Given the description of an element on the screen output the (x, y) to click on. 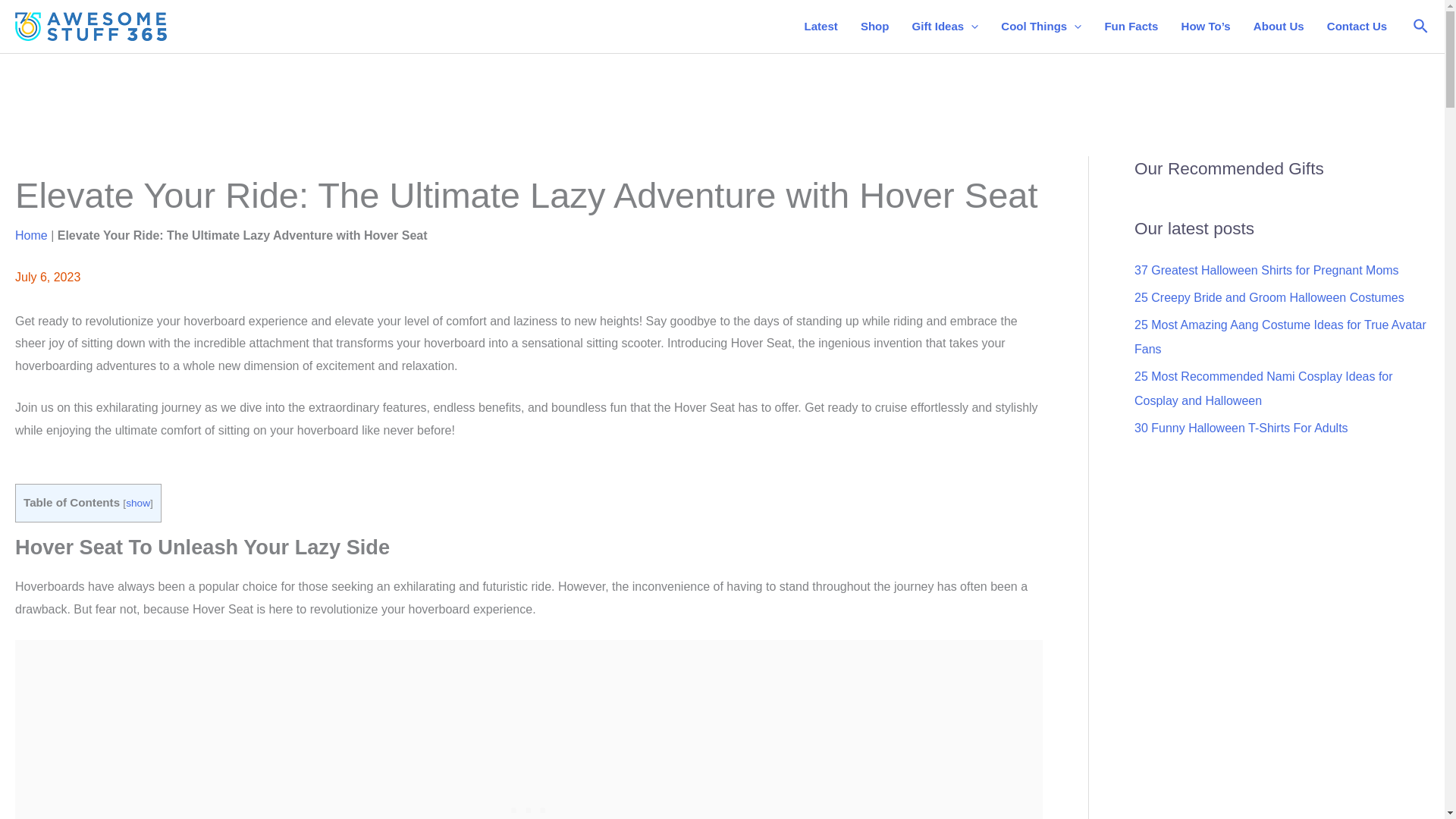
About Us (1278, 26)
Contact Us (1357, 26)
Latest (820, 26)
Fun Facts (1131, 26)
Shop (874, 26)
Cool Things (1041, 26)
Gift Ideas (945, 26)
